Given the description of an element on the screen output the (x, y) to click on. 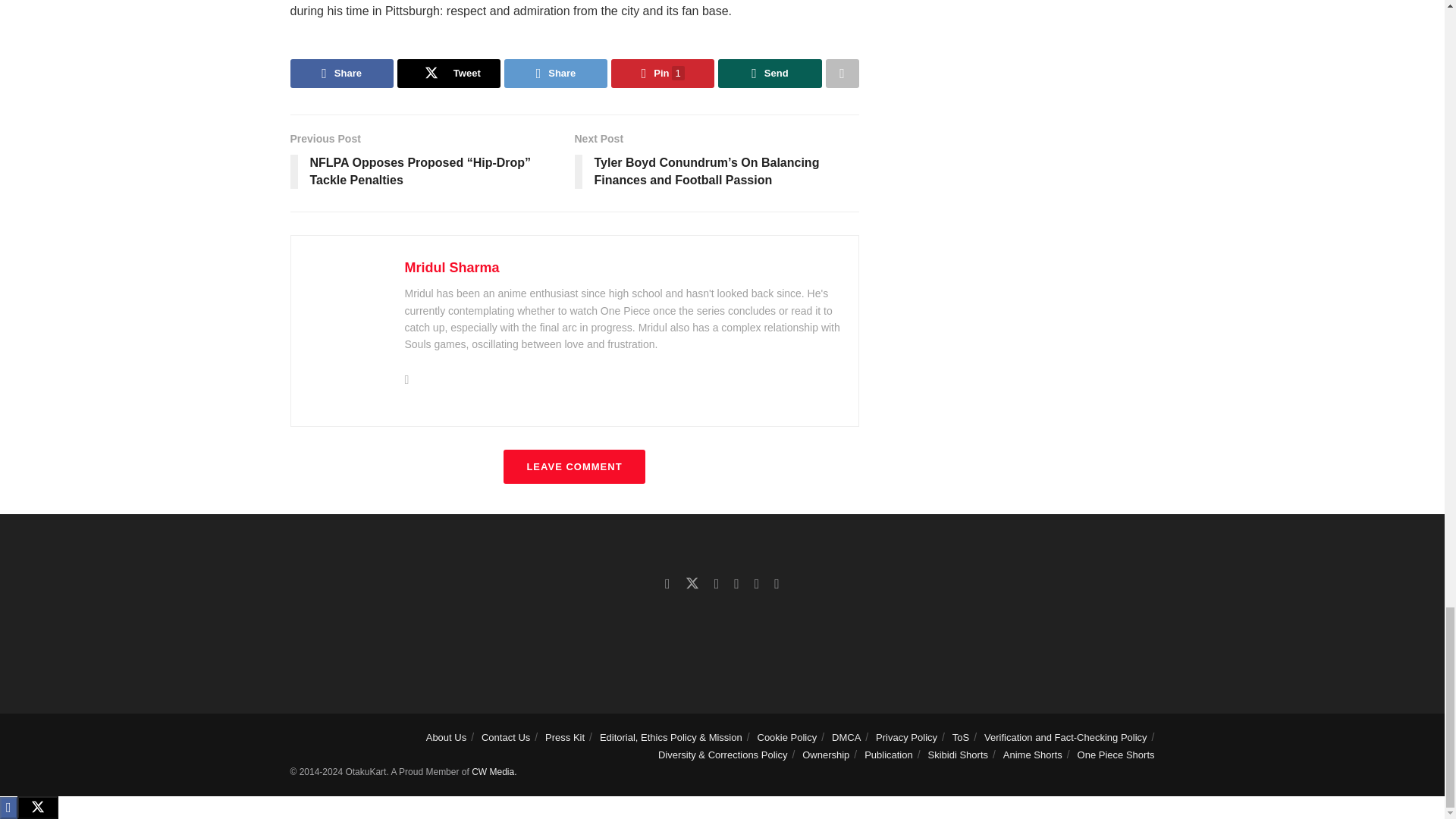
Share (555, 72)
Tweet (448, 72)
Share (341, 72)
Mridul Sharma (451, 267)
Pin1 (662, 72)
Send (769, 72)
